Given the description of an element on the screen output the (x, y) to click on. 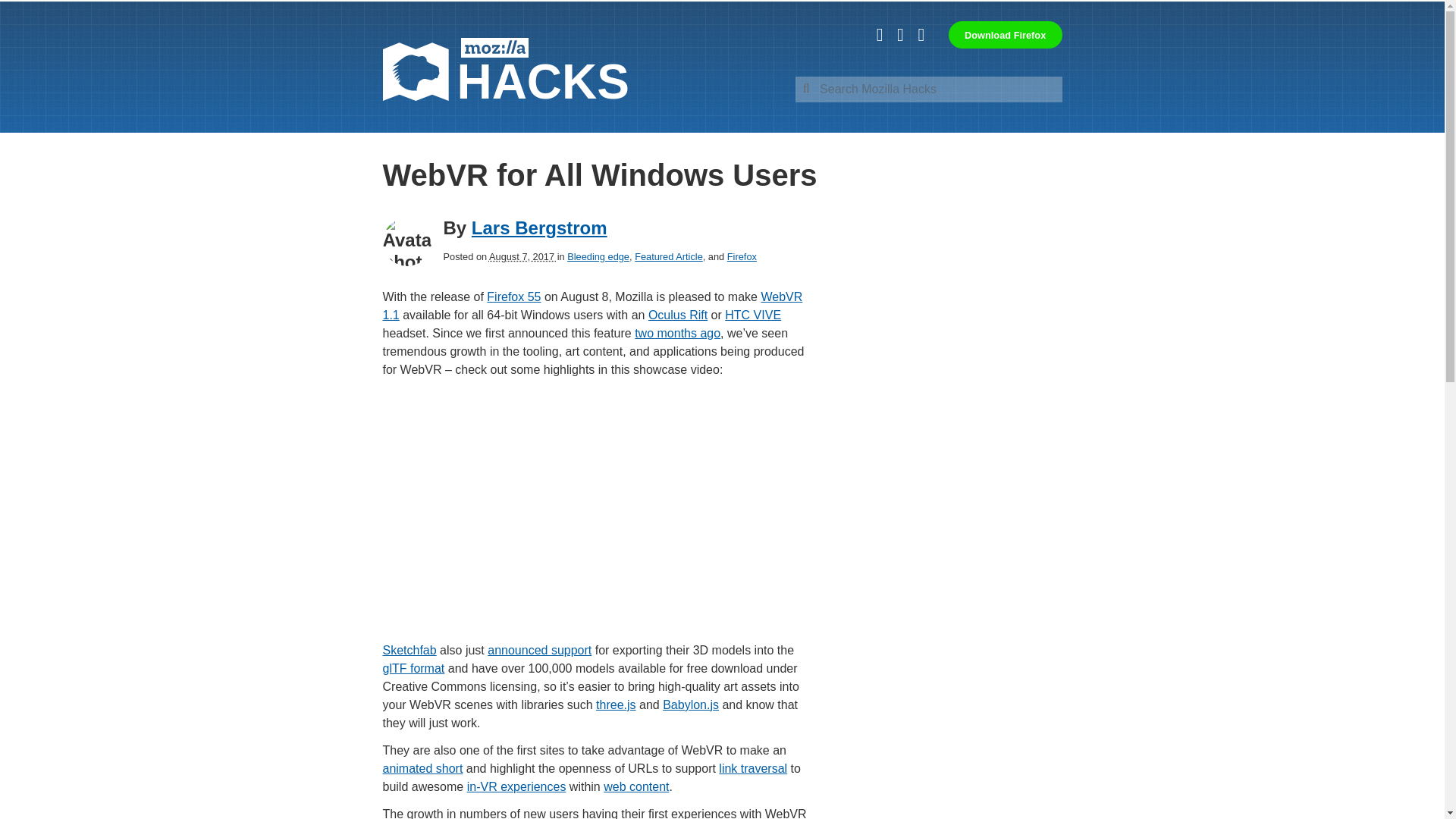
HACKS (504, 71)
announced support (539, 649)
Lars Bergstrom (539, 227)
three.js (614, 704)
Firefox 55 (513, 296)
Babylon.js (690, 704)
glTF format (412, 667)
2017-08-07T07:53:45-07:00 (523, 256)
HTC VIVE (752, 314)
Bleeding edge (597, 256)
